Given the description of an element on the screen output the (x, y) to click on. 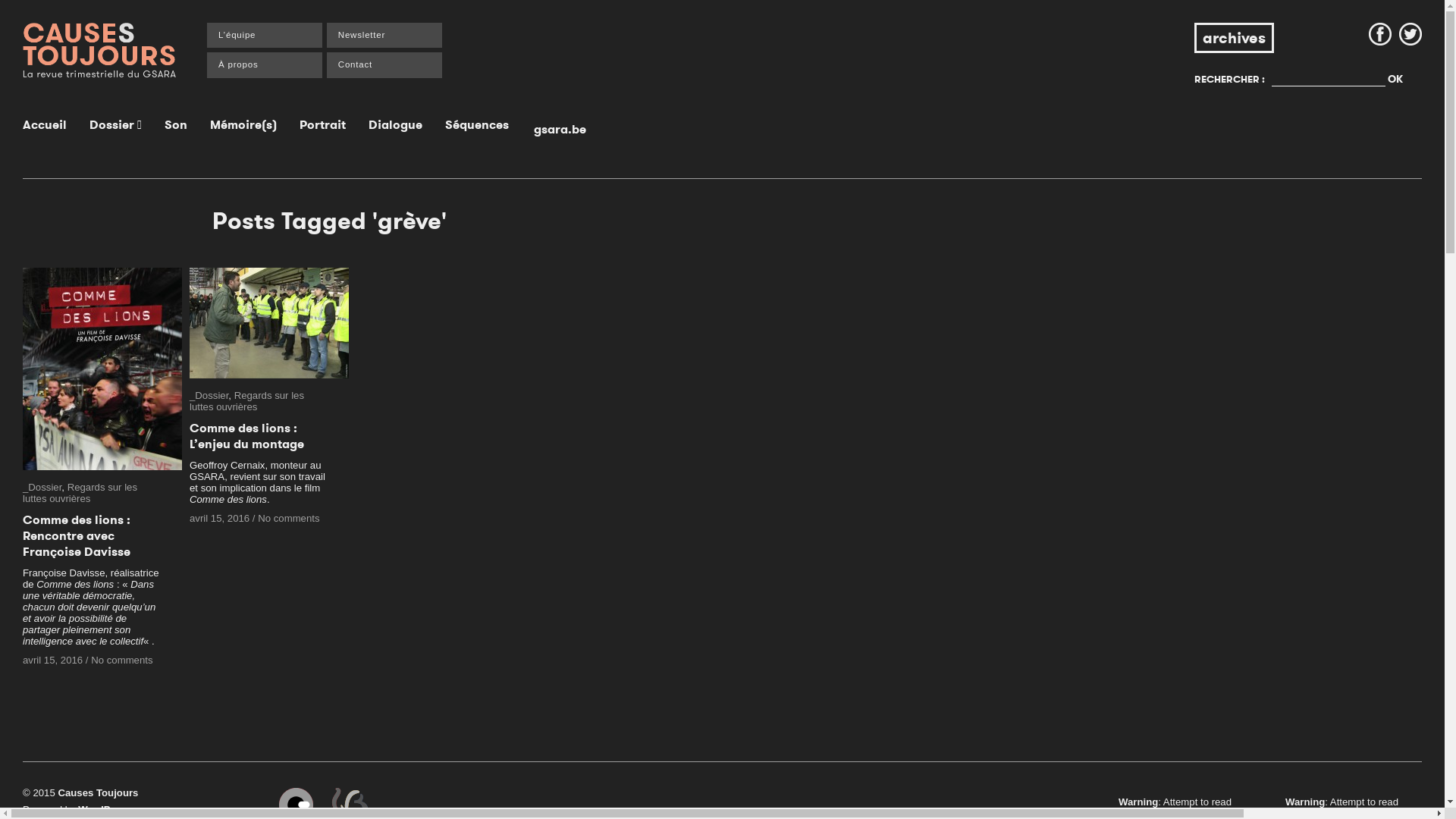
OK Element type: text (1394, 79)
No comments Element type: text (121, 659)
Contact Element type: text (384, 64)
Causes Toujours Element type: text (97, 792)
Newsletter Element type: text (384, 34)
archives Element type: text (1233, 38)
Accueil Element type: text (44, 124)
_Dossier Element type: text (208, 395)
Dialogue Element type: text (395, 124)
_Dossier Element type: text (41, 486)
Son Element type: text (175, 124)
Causes Toujours Element type: hover (99, 50)
gsara.be Element type: text (559, 129)
No comments Element type: text (288, 518)
WordPress Element type: text (104, 809)
Portrait Element type: text (322, 124)
